Given the description of an element on the screen output the (x, y) to click on. 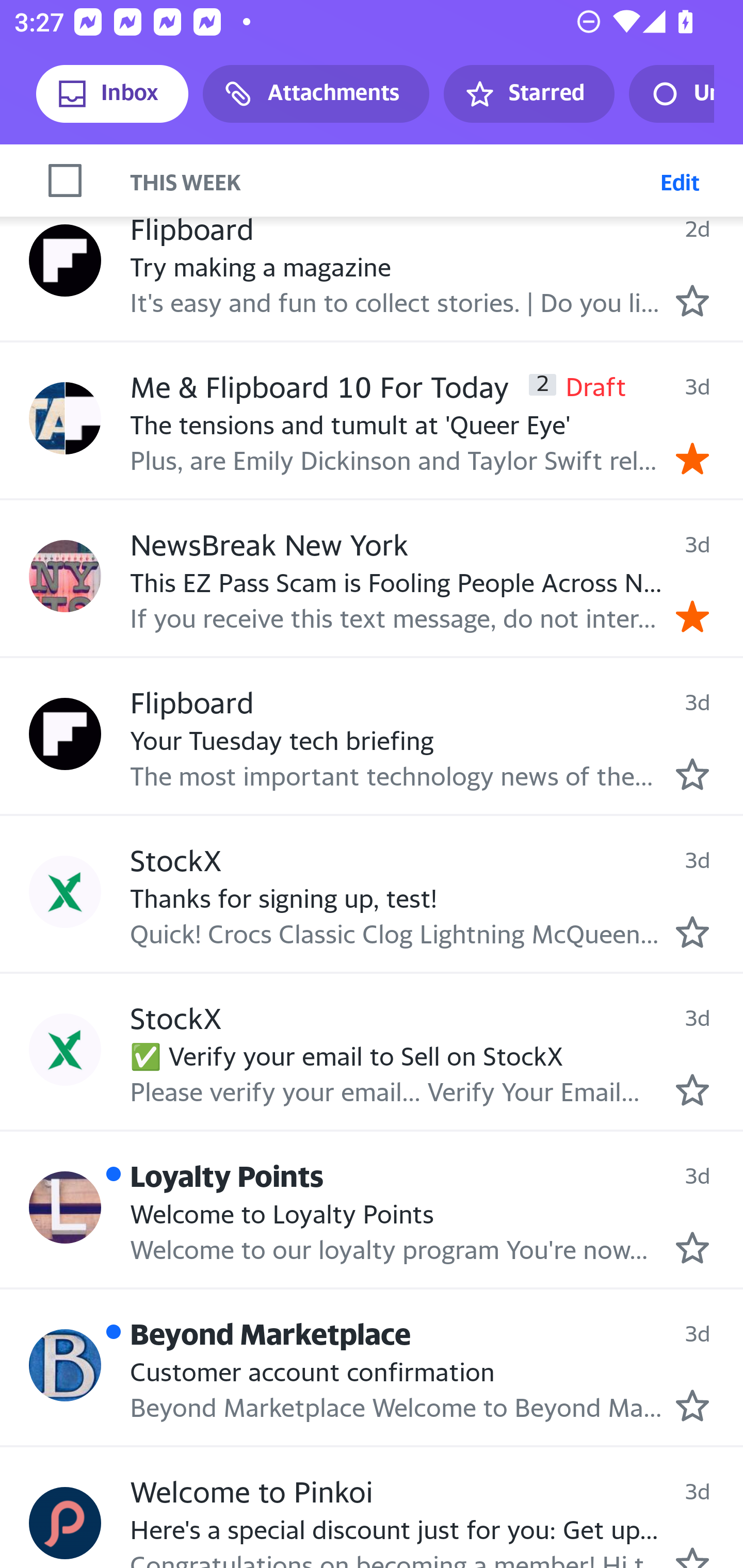
Attachments (315, 93)
Starred (528, 93)
Profile
Flipboard (64, 260)
Mark as starred. (692, 300)
Profile
Me & Flipboard 10 For Today (64, 418)
Remove star. (692, 458)
Profile
NewsBreak New York (64, 575)
Remove star. (692, 616)
Profile
Flipboard (64, 733)
Mark as starred. (692, 773)
Profile
StockX (64, 892)
Mark as starred. (692, 932)
Profile
StockX (64, 1048)
Mark as starred. (692, 1090)
Profile
Loyalty Points (64, 1207)
Mark as starred. (692, 1247)
Profile
Beyond Marketplace (64, 1365)
Mark as starred. (692, 1405)
Profile
Welcome to Pinkoi (64, 1522)
